Given the description of an element on the screen output the (x, y) to click on. 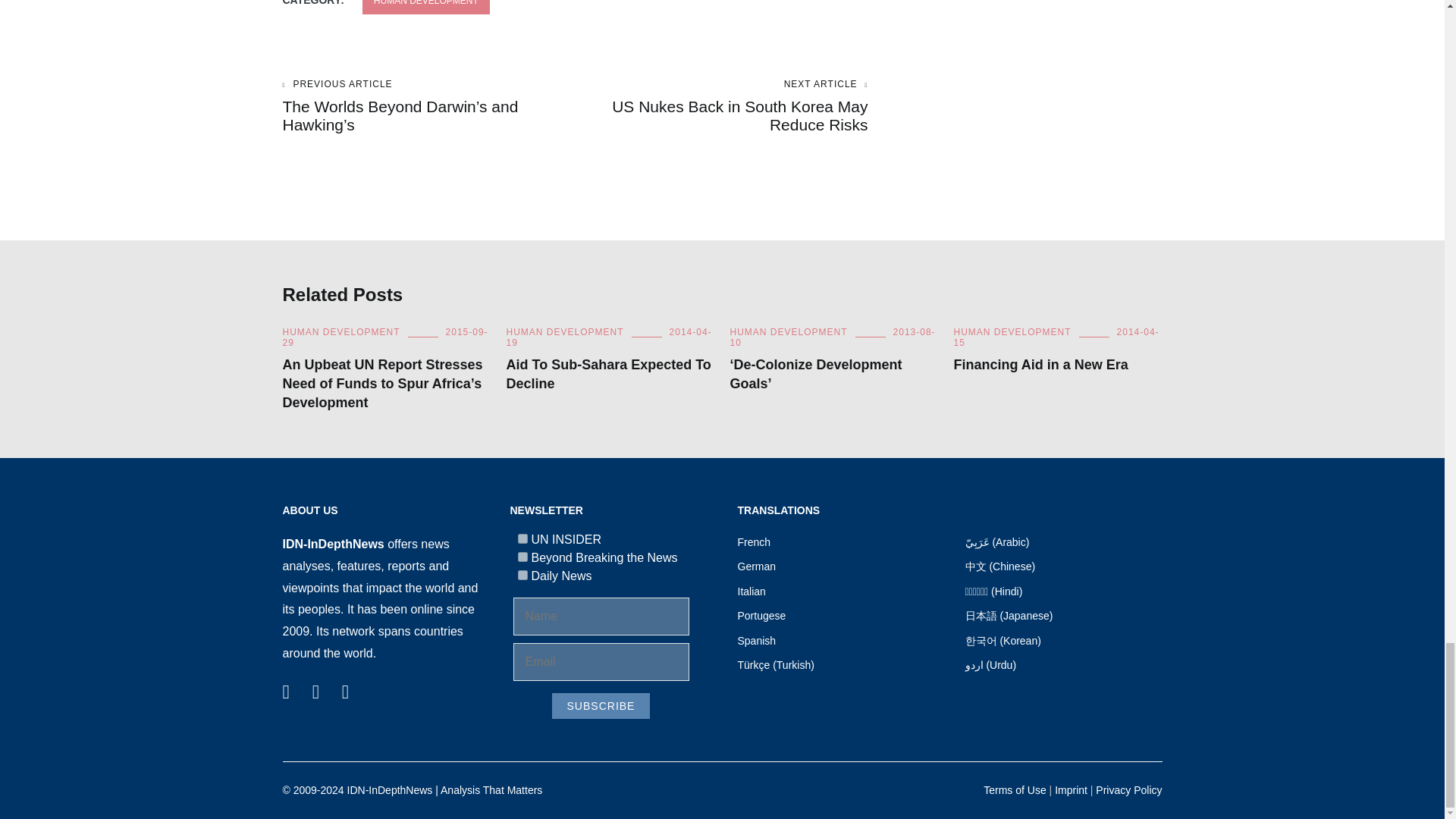
7 (521, 538)
Imprint (1070, 789)
10 (521, 574)
Terms of Use (1014, 789)
9 (521, 556)
